Given the description of an element on the screen output the (x, y) to click on. 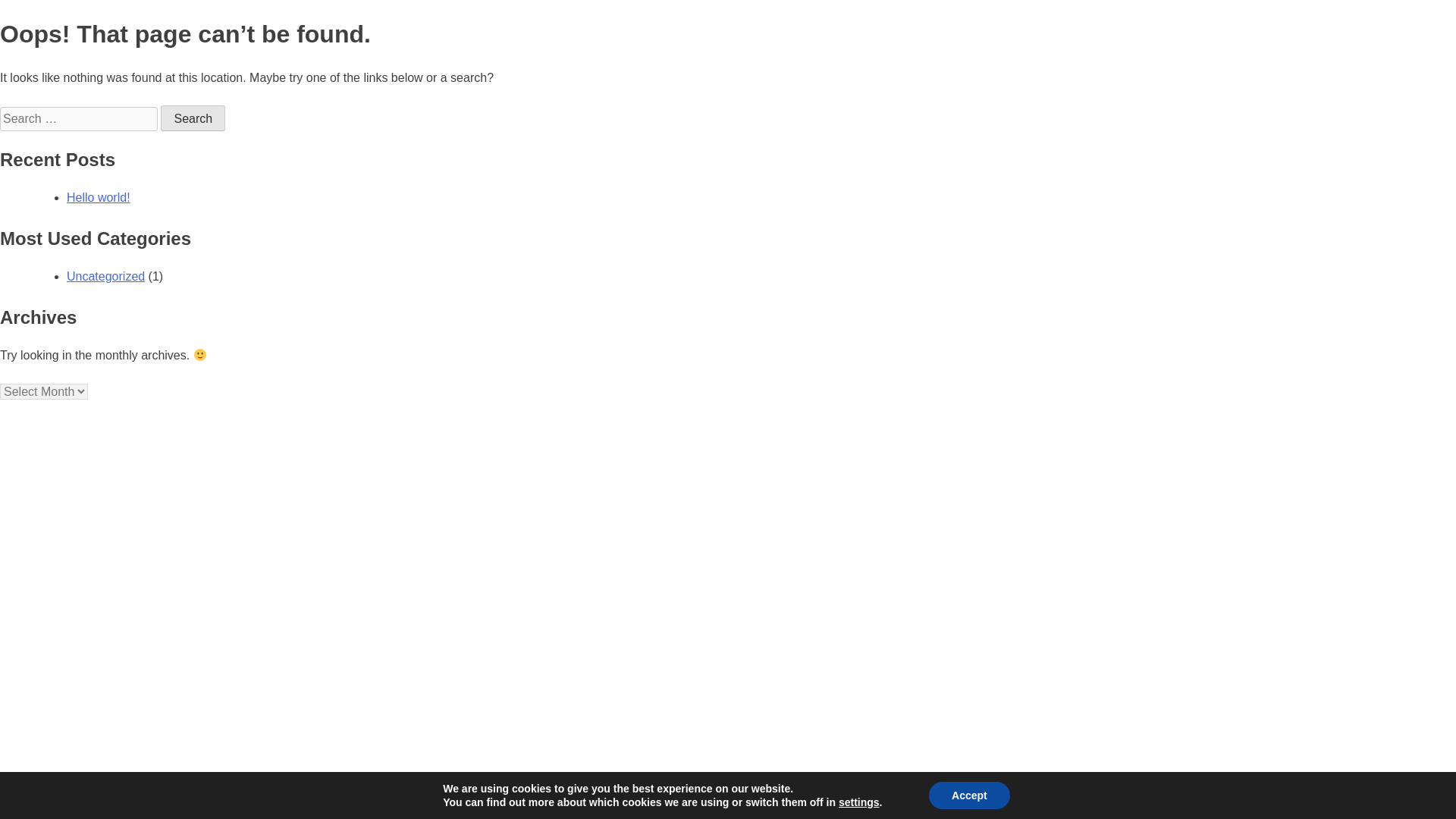
Search (192, 118)
Uncategorized (105, 276)
Search (192, 118)
Search (192, 118)
Hello world! (98, 196)
